Given the description of an element on the screen output the (x, y) to click on. 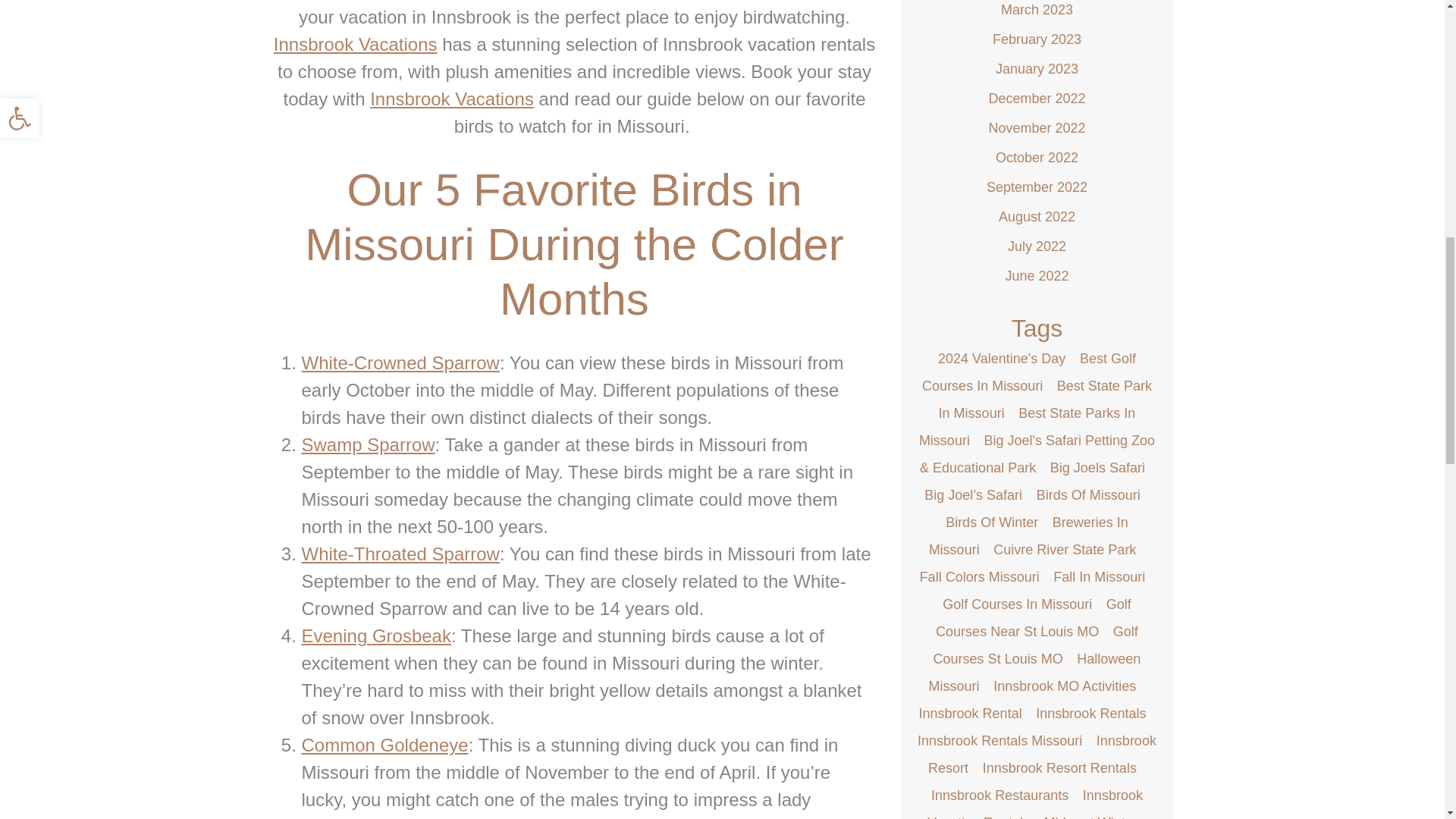
White-Crowned Sparrow (400, 362)
White-Throated Sparrow (400, 553)
Swamp Sparrow (368, 444)
Evening Grosbeak (376, 635)
Innsbrook Vacations (355, 44)
Common Goldeneye (384, 744)
Innsbrook Vacations (451, 98)
